Given the description of an element on the screen output the (x, y) to click on. 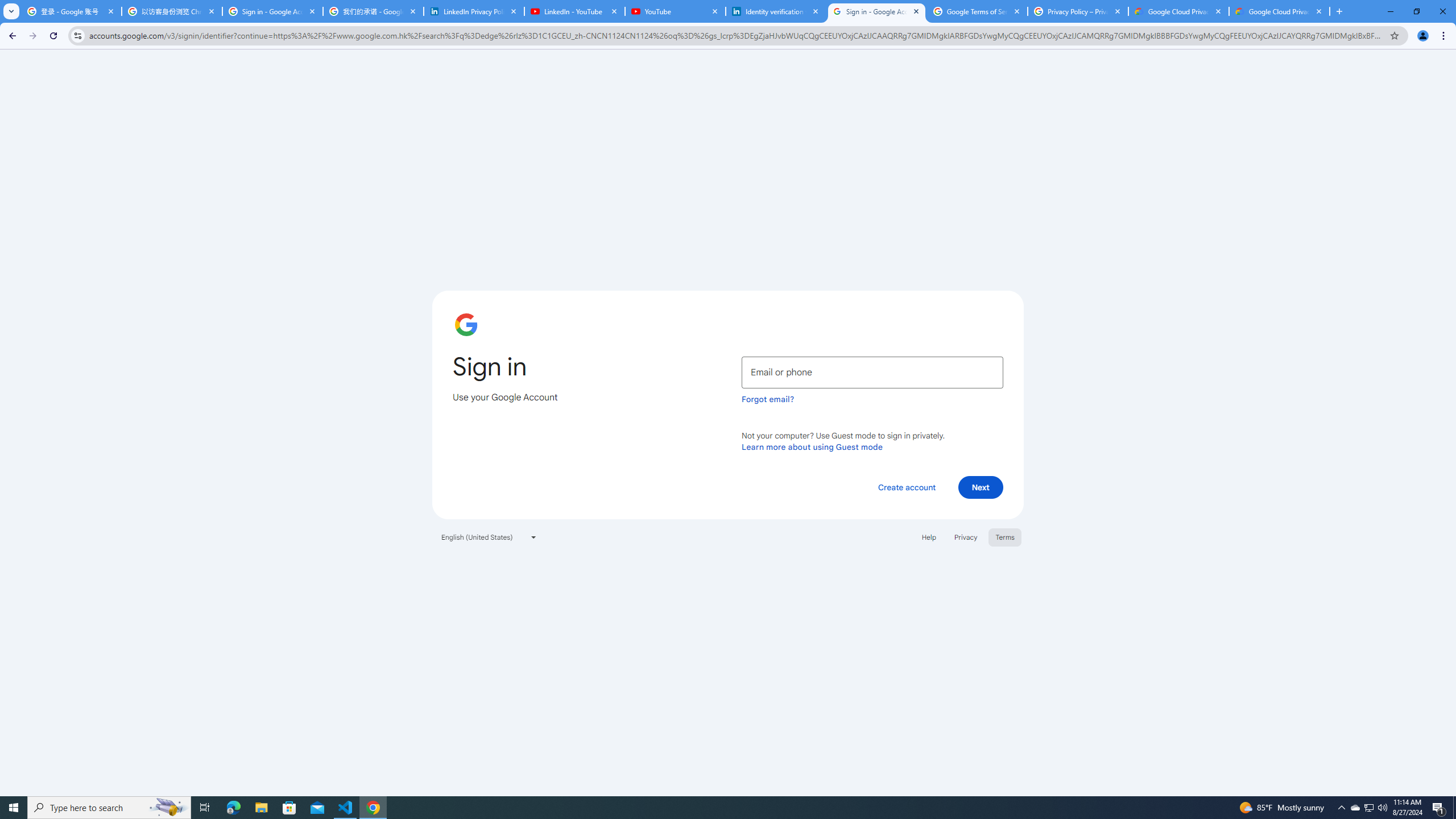
Email or phone (872, 372)
Sign in - Google Accounts (876, 11)
English (United States) (489, 536)
LinkedIn - YouTube (574, 11)
